Given the description of an element on the screen output the (x, y) to click on. 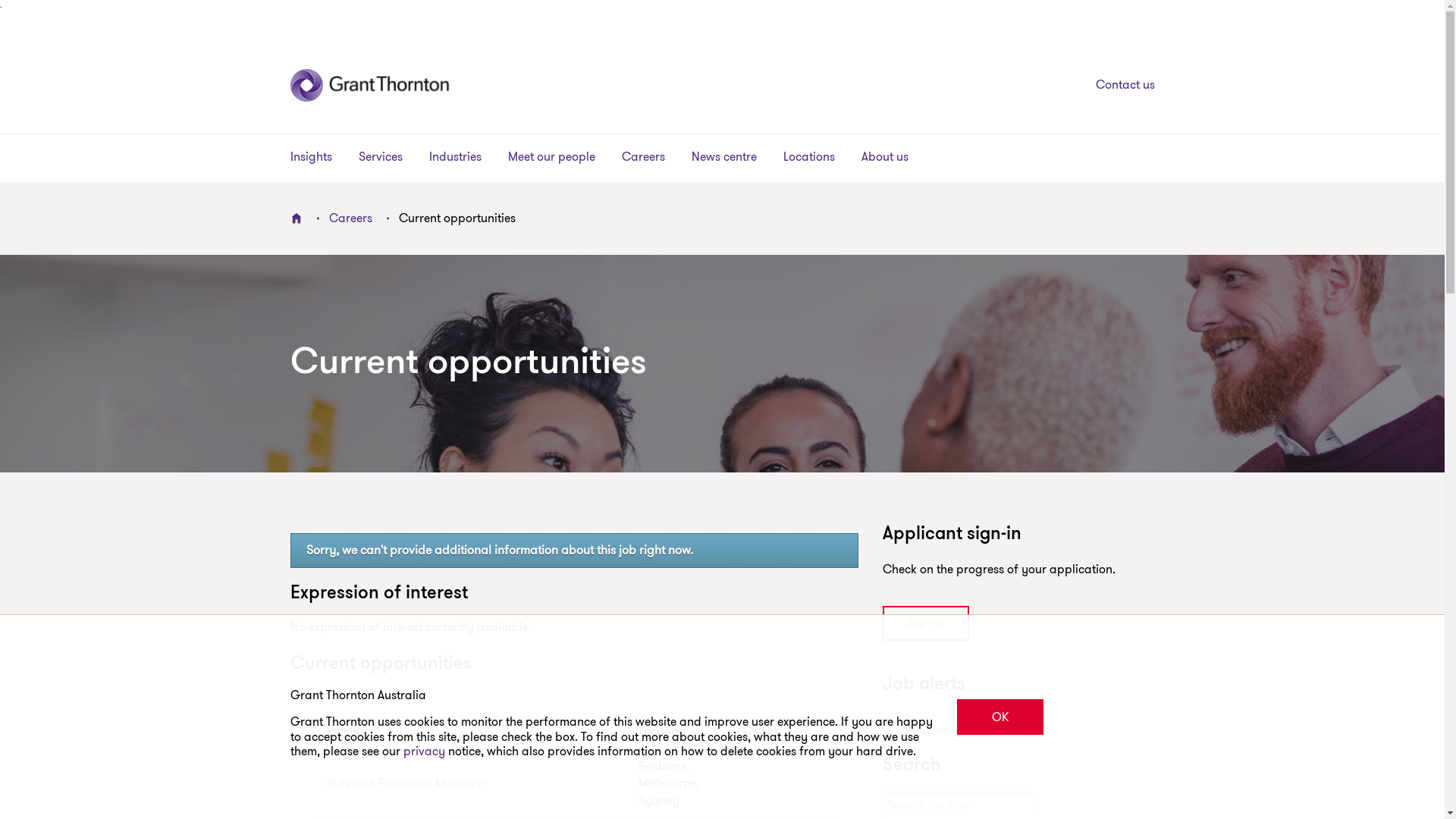
About us Element type: text (884, 157)
Services Element type: text (379, 157)
Locations Element type: text (808, 157)
Careers Element type: text (643, 157)
Contact us Element type: text (1112, 85)
Careers Element type: text (350, 218)
privacy Element type: text (425, 750)
News centre Element type: text (723, 157)
Sign-in Element type: text (925, 622)
Send me jobs like these Element type: text (1018, 730)
Grant Thornton Australia | Audit, Tax and Advisory Element type: text (295, 218)
OK Element type: text (1000, 716)
Industries Element type: text (455, 157)
logo Element type: hover (440, 84)
Meet our people Element type: text (551, 157)
Bids and Proposals Manager Element type: text (469, 783)
logo Element type: hover (305, 84)
Insights Element type: text (310, 157)
